Given the description of an element on the screen output the (x, y) to click on. 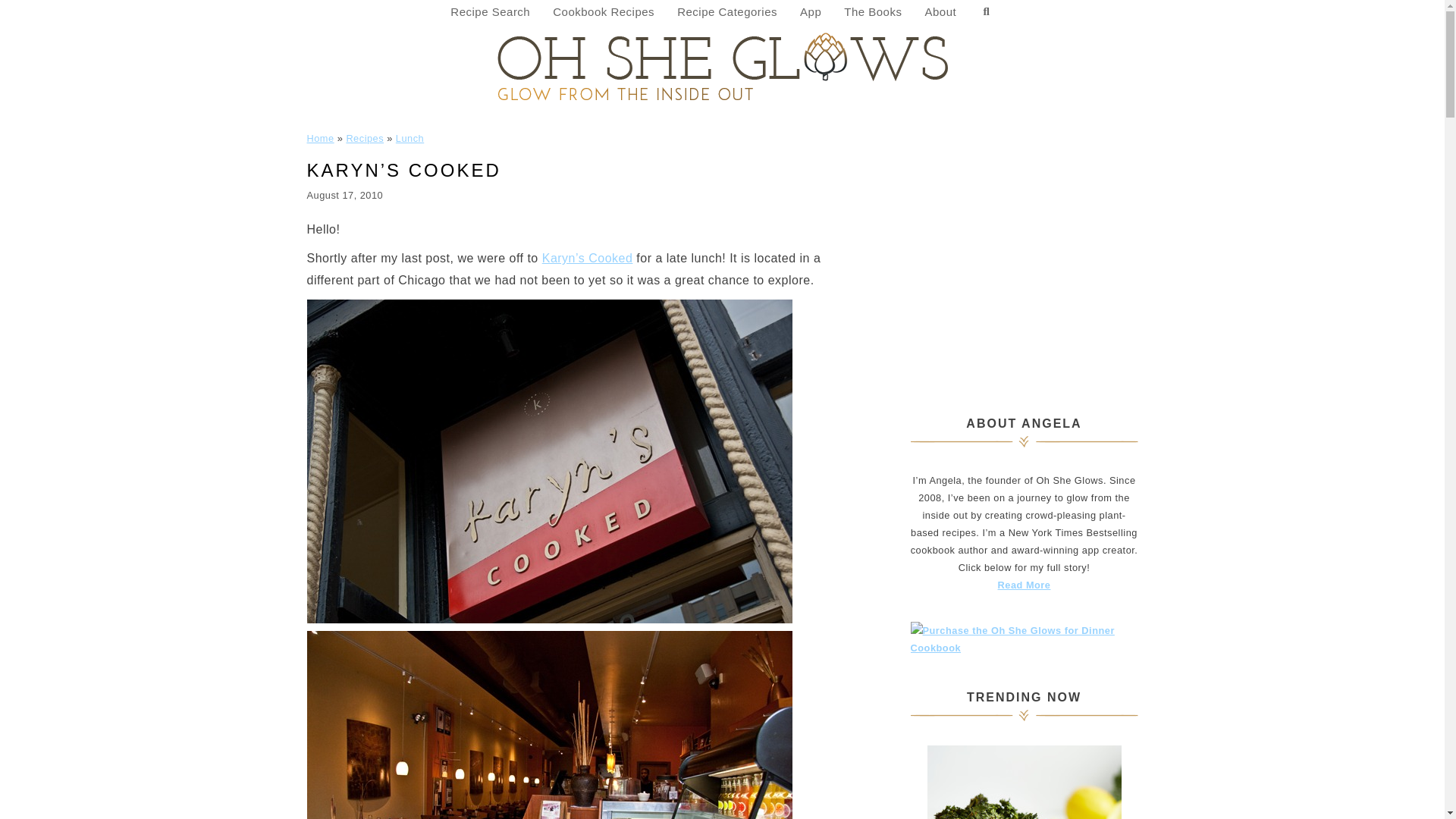
App (810, 11)
About (940, 11)
Oh She Glows (722, 65)
Home (319, 138)
Oh She Glows (721, 64)
Lunch (409, 138)
Recipe Categories (727, 11)
Recipes (365, 138)
The Books (872, 11)
Search (986, 11)
Cookbook Recipes (603, 11)
Recipe Search (490, 11)
